Given the description of an element on the screen output the (x, y) to click on. 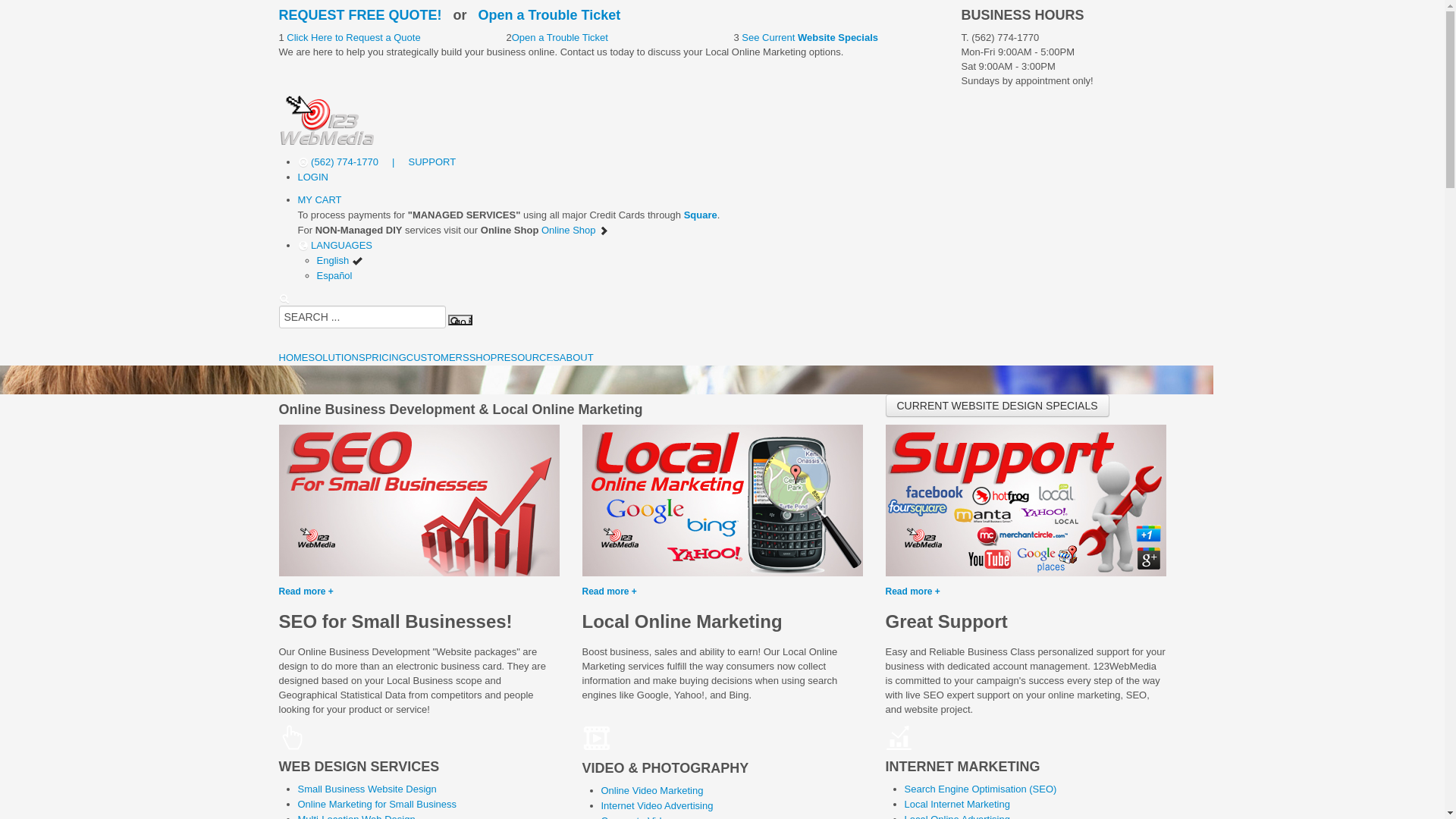
English Element type: text (339, 260)
Online Video Marketing Element type: text (651, 790)
HOME Element type: text (293, 357)
Read more + Element type: text (1025, 546)
Read more + Element type: text (419, 546)
Internet Video Advertising Element type: text (656, 805)
Local Internet Marketing Element type: text (956, 803)
Square Element type: text (700, 214)
CURRENT WEBSITE DESIGN SPECIALS Element type: text (997, 405)
Open a Trouble Ticket Element type: text (559, 37)
go Element type: text (460, 319)
(562) 774-1770     |     SUPPORT Element type: text (376, 161)
Small Business Website Design Element type: text (366, 788)
LANGUAGES Element type: text (334, 245)
See Current Website Specials Element type: text (808, 37)
Search Engine Optimisation (SEO) Element type: text (979, 788)
Click Here to Request a Quote Element type: text (352, 37)
REQUEST FREE QUOTE! Element type: text (360, 14)
Online Marketing for Small Business Element type: text (376, 803)
Open a Trouble Ticket Element type: text (549, 14)
Online Shop Element type: text (574, 229)
MY CART Element type: text (319, 199)
Read more + Element type: text (722, 546)
LOGIN Element type: text (312, 176)
